Given the description of an element on the screen output the (x, y) to click on. 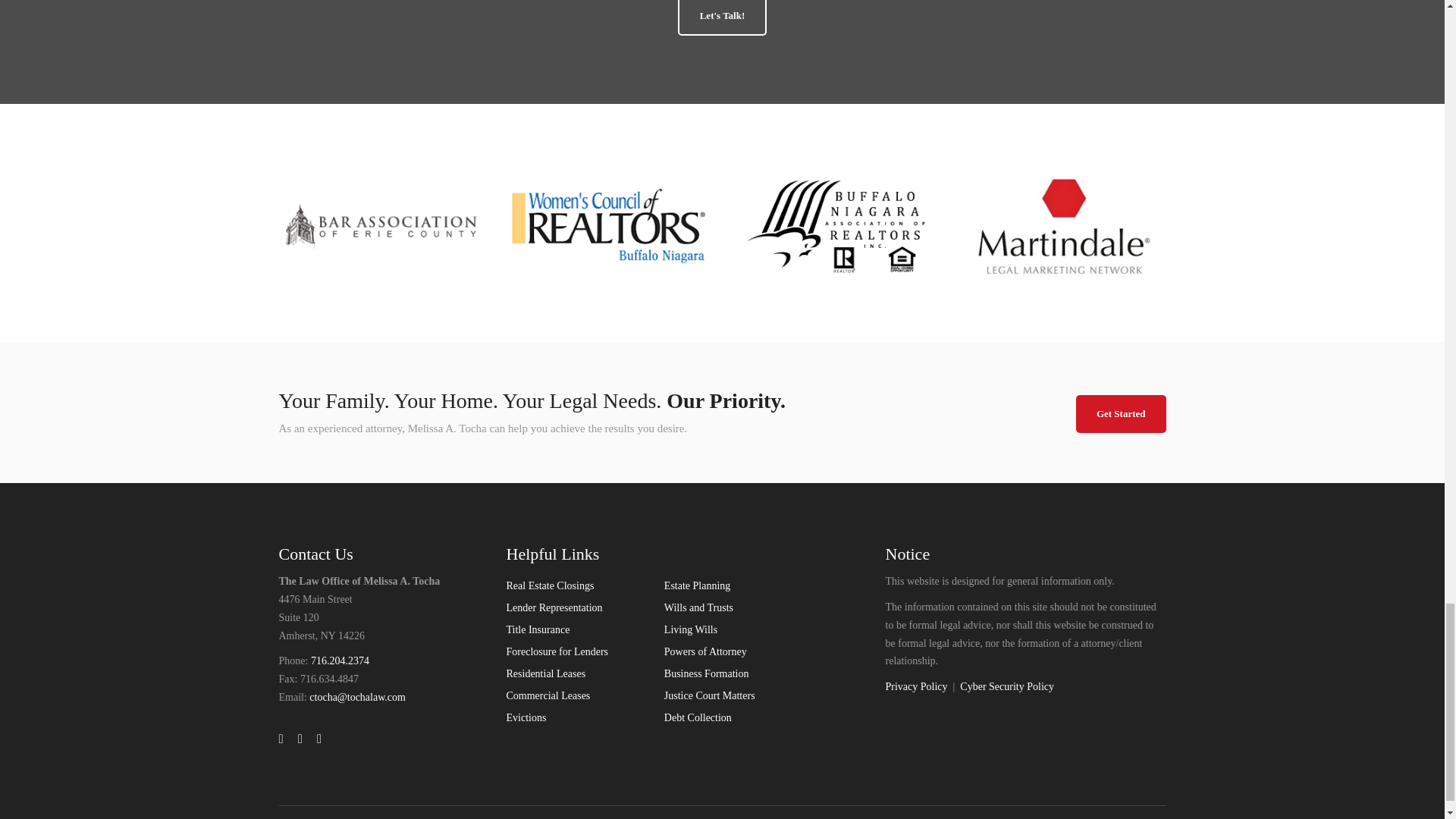
Legal representation in eviction matters (526, 717)
Evictions (526, 717)
The Law Office of Melissa A. Tocha on Facebook (300, 738)
Legal assistance with estate planning (696, 585)
The Law Office of Melissa A. Tocha on Lawyers.com (319, 738)
Powers of Attorney (704, 651)
Estate Planning (696, 585)
Legal services for establishing Wills and Trusts (698, 607)
Real Estate Closings (550, 585)
Legal representation for commercial leases (548, 695)
Wills and Trusts (698, 607)
Title Insurance (538, 629)
Commercial Leases (548, 695)
Legal representation for title insurance (538, 629)
